Given the description of an element on the screen output the (x, y) to click on. 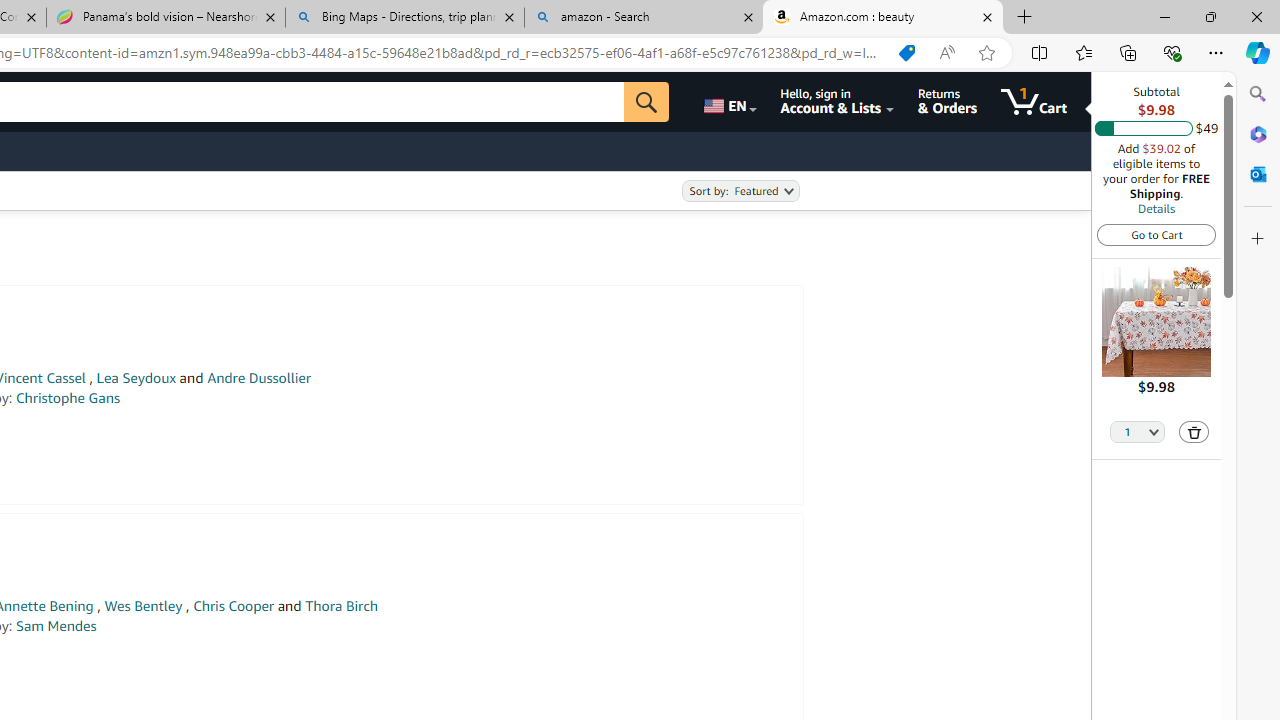
Sort by: (740, 191)
Details (1156, 208)
Delete (1194, 431)
Choose a language for shopping. (728, 101)
Returns & Orders (946, 101)
Chris Cooper (234, 606)
Delete (1193, 431)
Wes Bentley (143, 606)
